Given the description of an element on the screen output the (x, y) to click on. 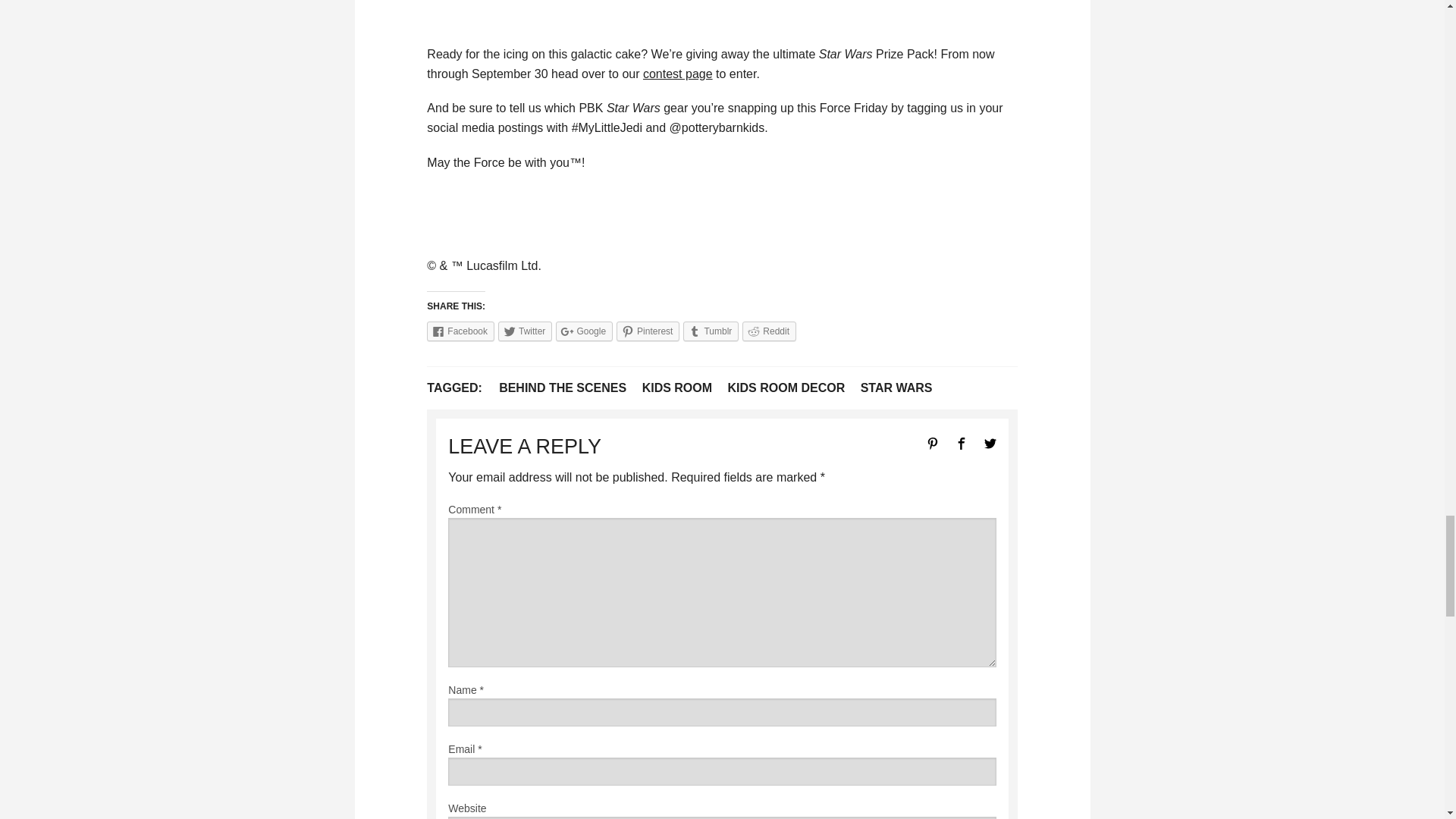
Click to share on Facebook (460, 331)
Click to share on Twitter (524, 331)
Click to share on Pinterest (647, 331)
Click to share on Tumblr (710, 331)
Click to share on Reddit (769, 331)
